Given the description of an element on the screen output the (x, y) to click on. 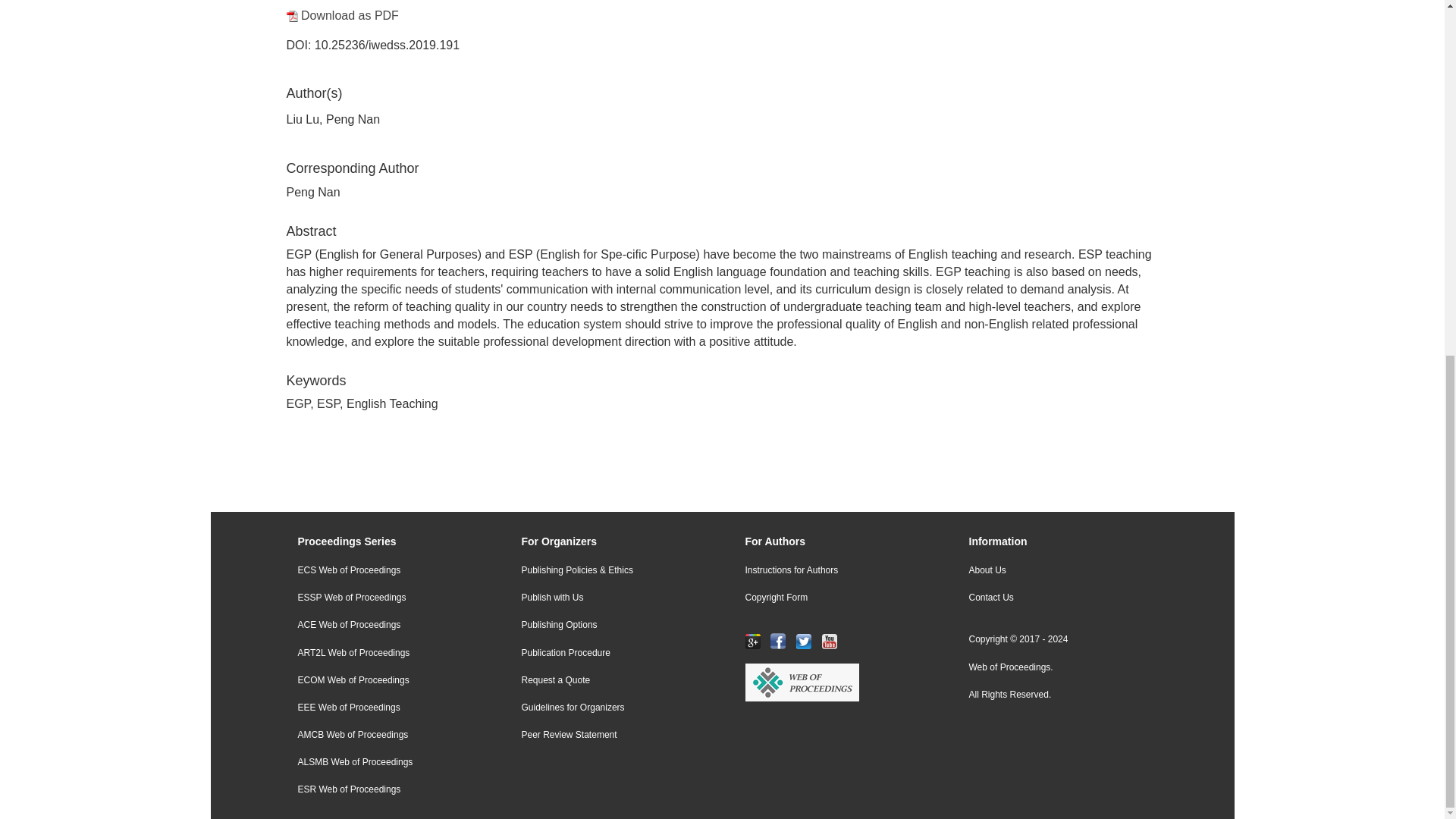
Peer Review Statement (609, 735)
Download as PDF (342, 15)
ESR Web of Proceedings (386, 789)
EEE Web of Proceedings (386, 707)
Publishing Options (609, 624)
Instructions for Authors (833, 570)
AMCB Web of Proceedings (386, 735)
ART2L Web of Proceedings (386, 653)
ALSMB Web of Proceedings (386, 762)
Proceedings Series (386, 542)
Information (1056, 542)
Contact Us (1056, 597)
Copyright Form (833, 597)
ESSP Web of Proceedings (386, 597)
For Authors (833, 542)
